Given the description of an element on the screen output the (x, y) to click on. 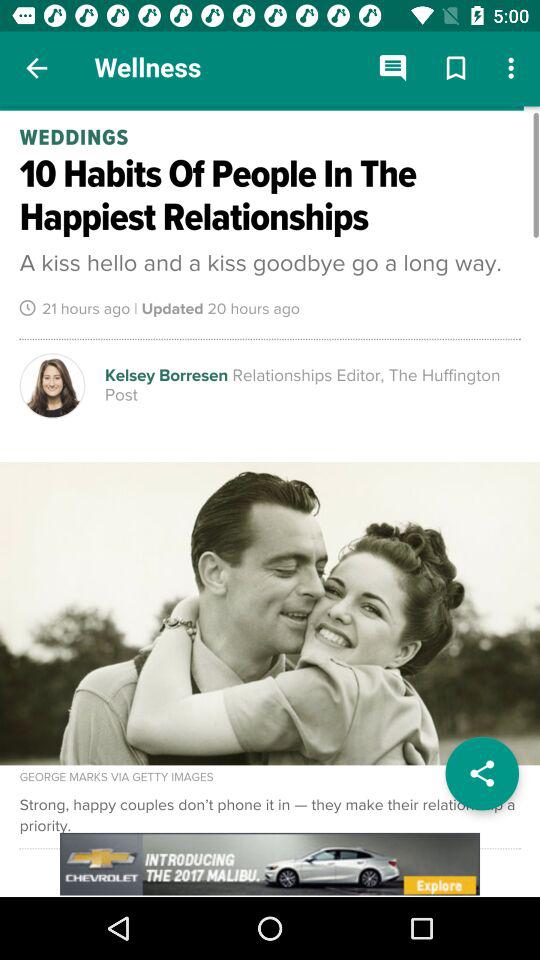
wellness info (270, 501)
